Given the description of an element on the screen output the (x, y) to click on. 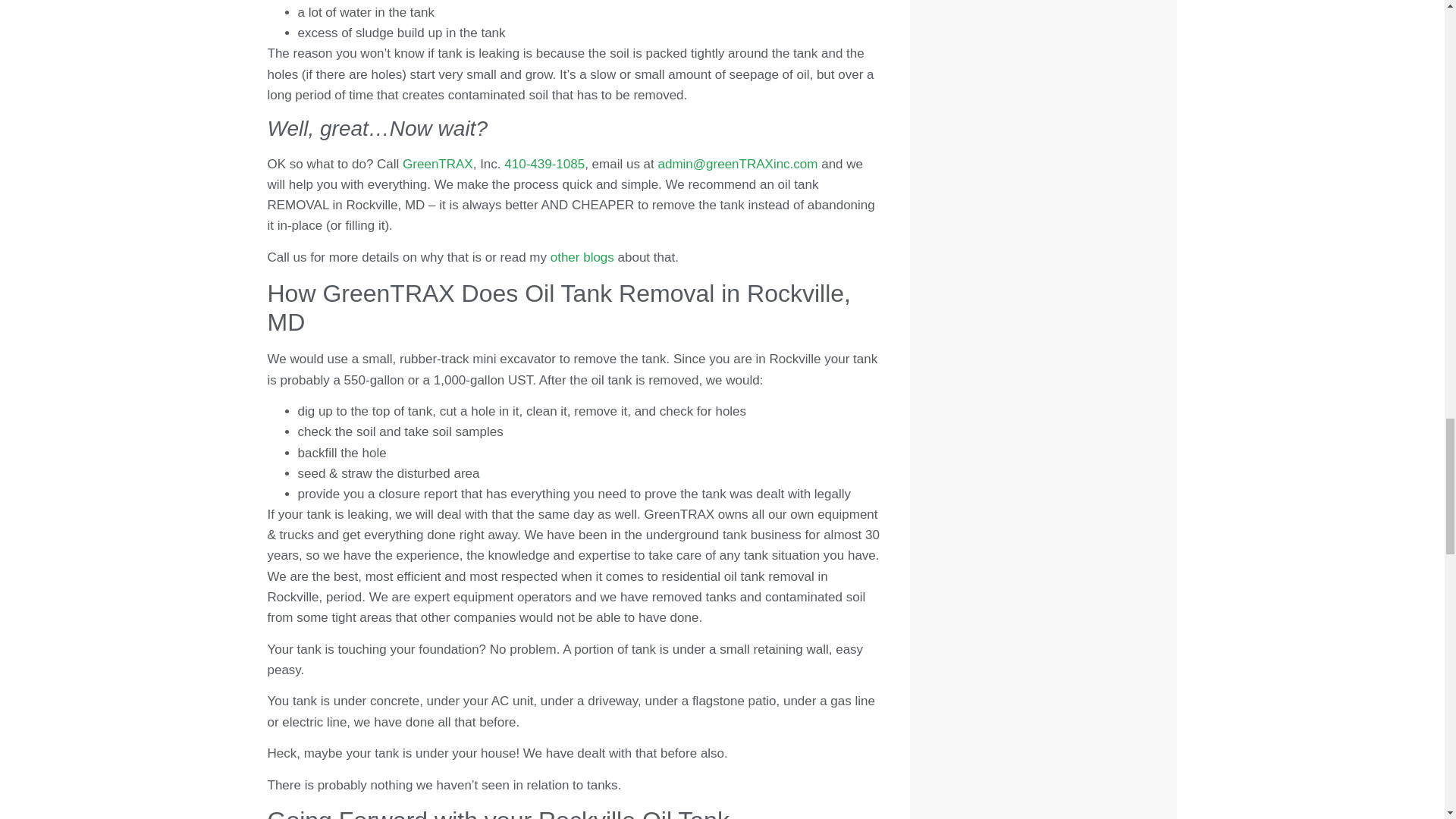
410-439-1085 (544, 164)
GreenTRAX (438, 164)
other blogs (582, 257)
